Given the description of an element on the screen output the (x, y) to click on. 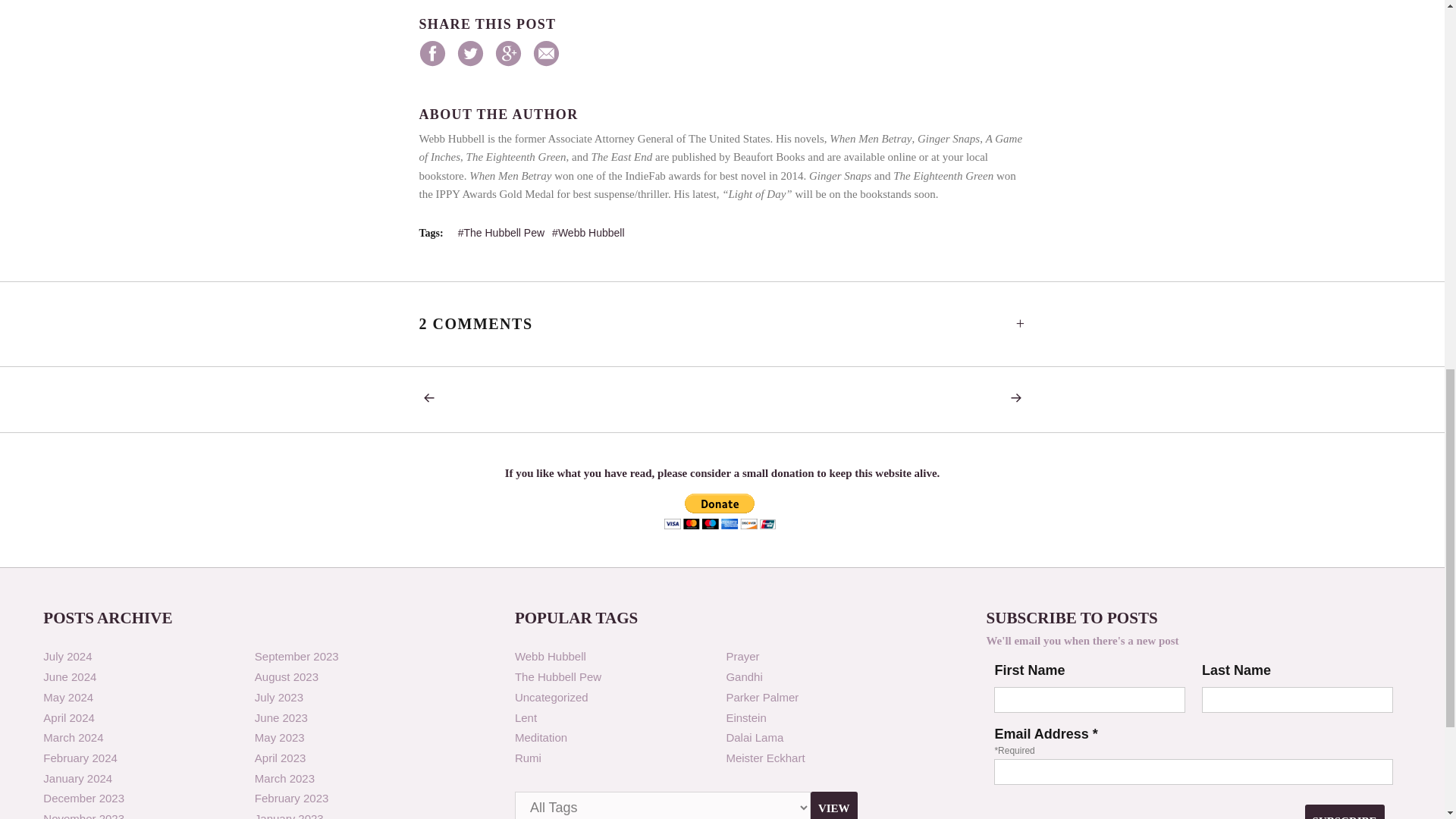
Prayer Tag (741, 656)
Uncategorized Tag (551, 697)
August 2023 (286, 676)
January 2023 (288, 815)
March 2023 (284, 778)
April 2023 (279, 757)
Meditation Tag (541, 737)
Dalai Lama Tag (754, 737)
NEXT POST: LIGHT WILL LEAD OUR WAY (1011, 398)
View (833, 805)
PREVIOUS POST: AS LONG AS THERE IS ONE UPRIGHT MAN (432, 398)
January 2024 (77, 778)
May 2024 (68, 697)
Gandhi Tag (743, 676)
The Hubbell Pew (501, 232)
